Given the description of an element on the screen output the (x, y) to click on. 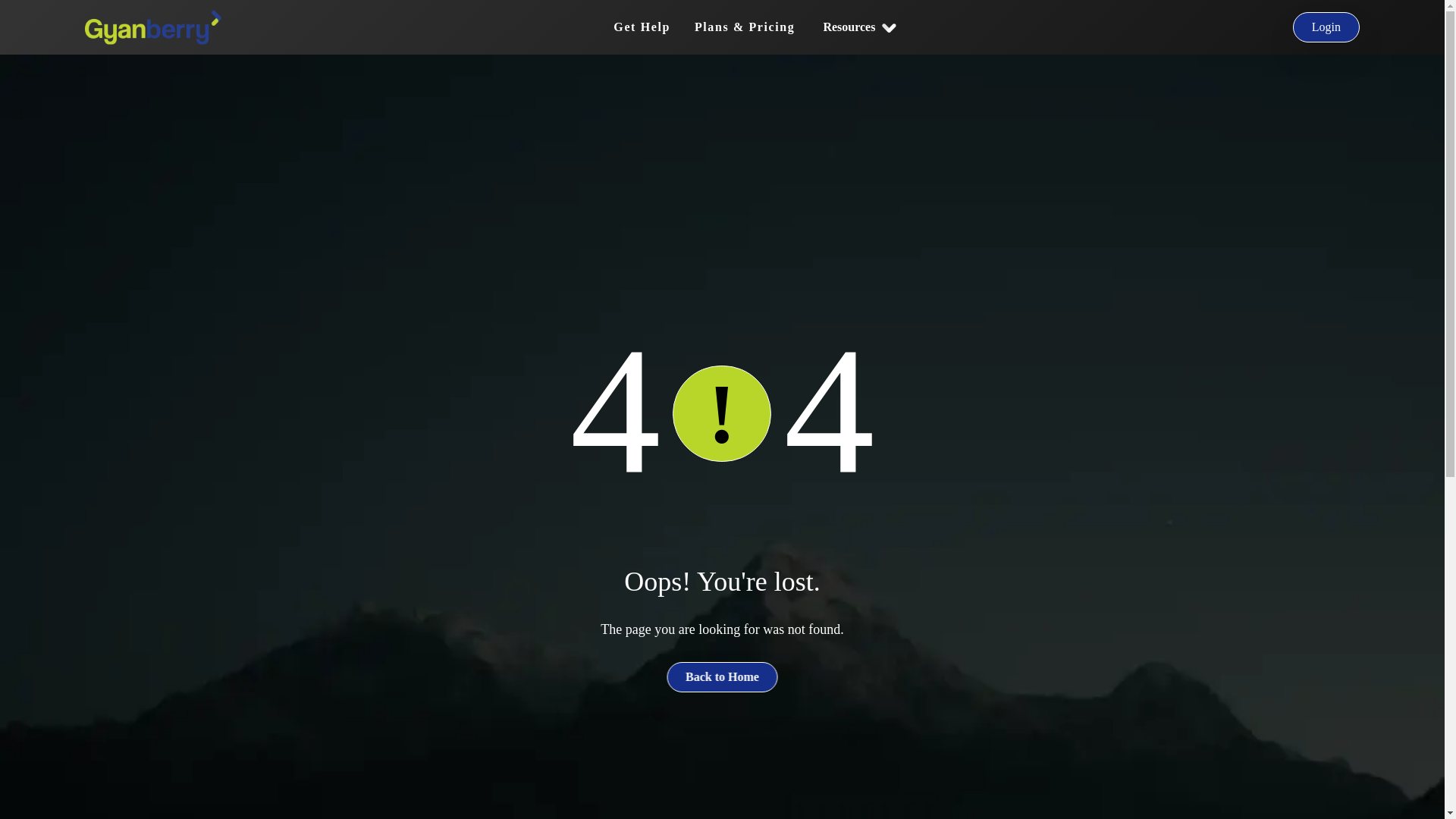
Login (1325, 27)
Back to Home (721, 676)
Resources (858, 27)
Get Help (640, 27)
